Given the description of an element on the screen output the (x, y) to click on. 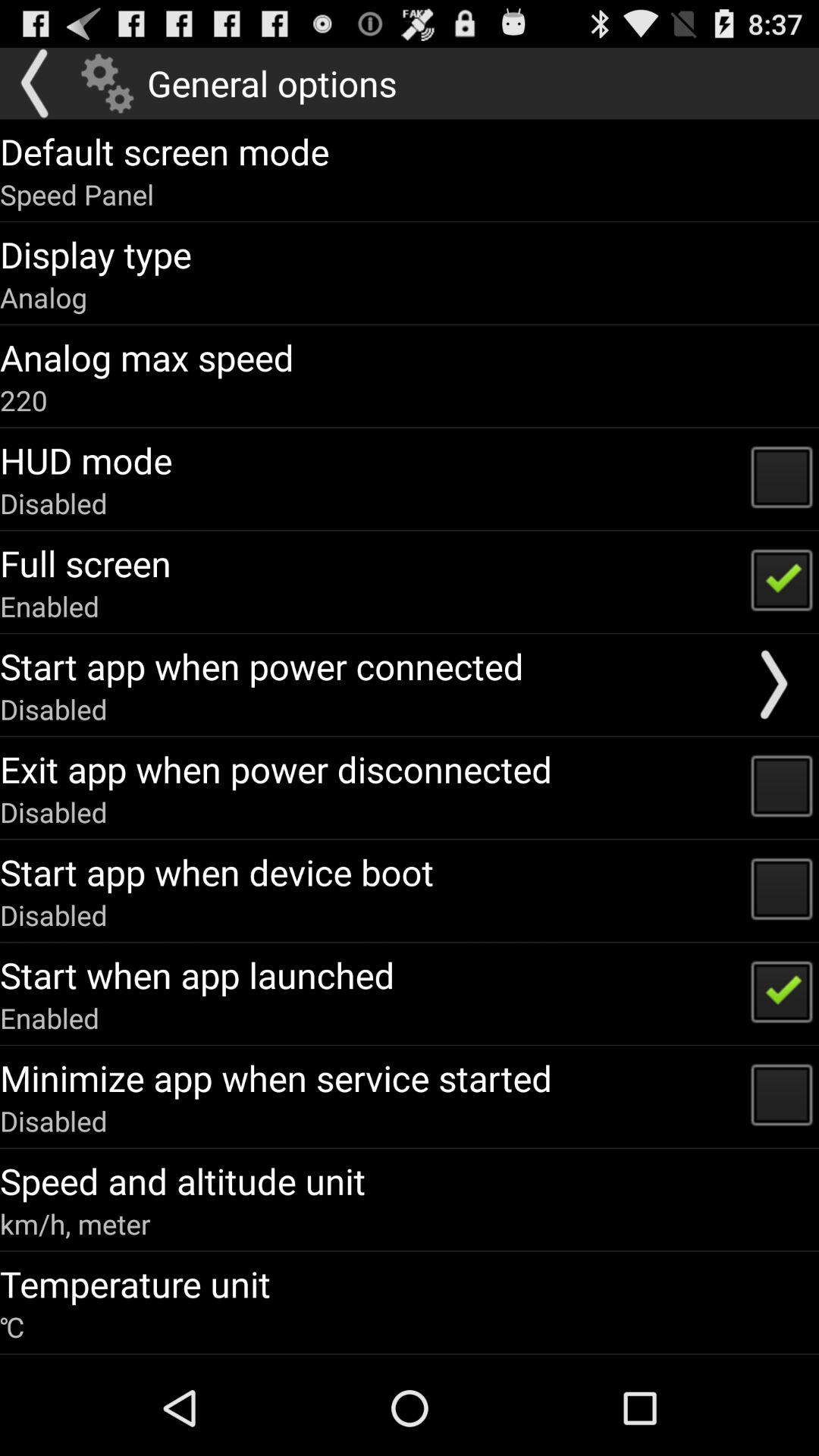
open the display type icon (95, 254)
